Given the description of an element on the screen output the (x, y) to click on. 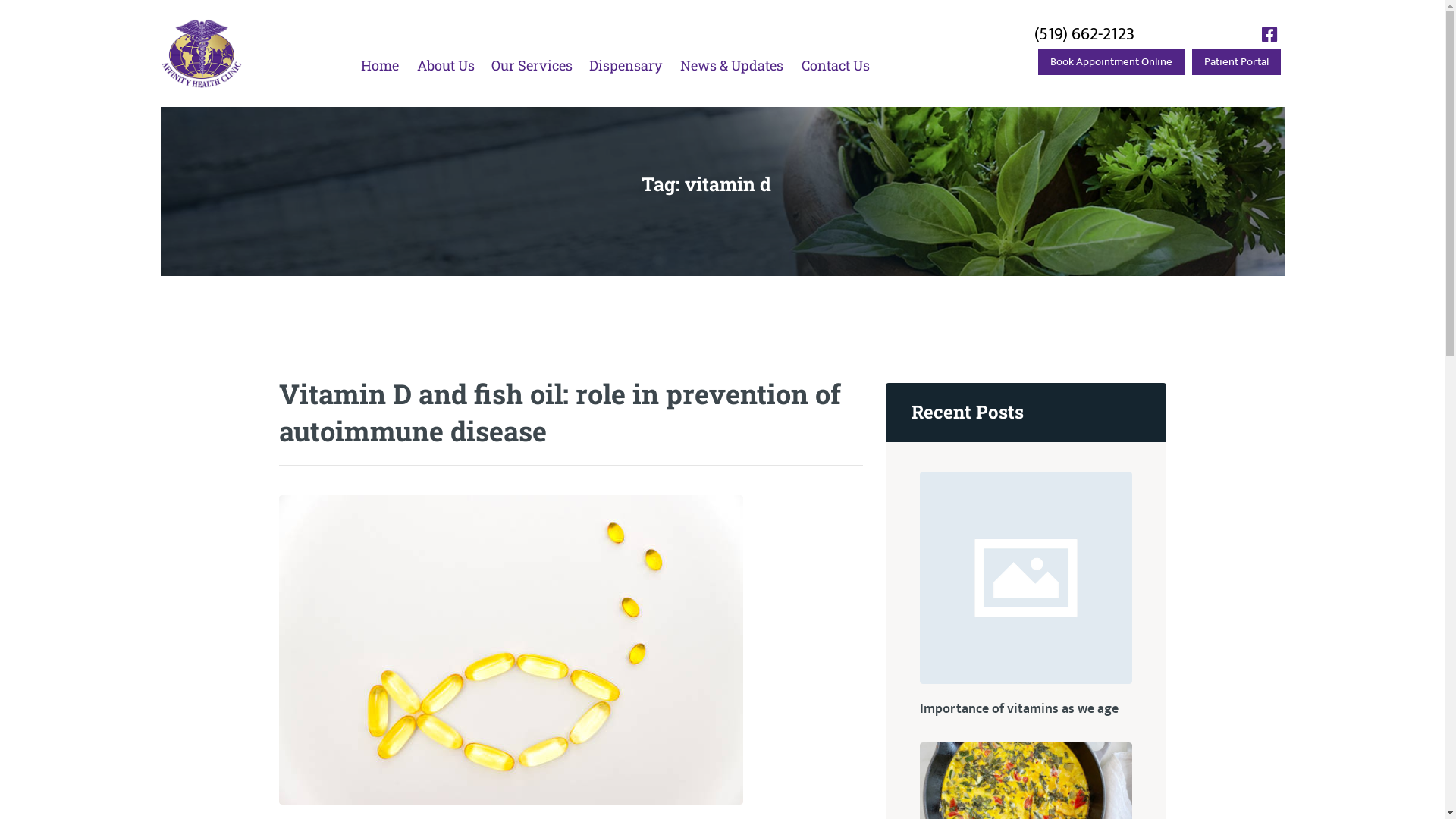
Home Element type: text (378, 65)
Contact Us Element type: text (835, 65)
(519) 662-2123 Element type: text (1084, 33)
Dispensary Element type: text (625, 65)
Importance of vitamins as we age Element type: text (1025, 709)
News & Updates Element type: text (731, 65)
Patient Portal Element type: text (1236, 62)
Our Services Element type: text (530, 65)
About Us Element type: text (444, 65)
Book Appointment Online Element type: text (1110, 62)
